Given the description of an element on the screen output the (x, y) to click on. 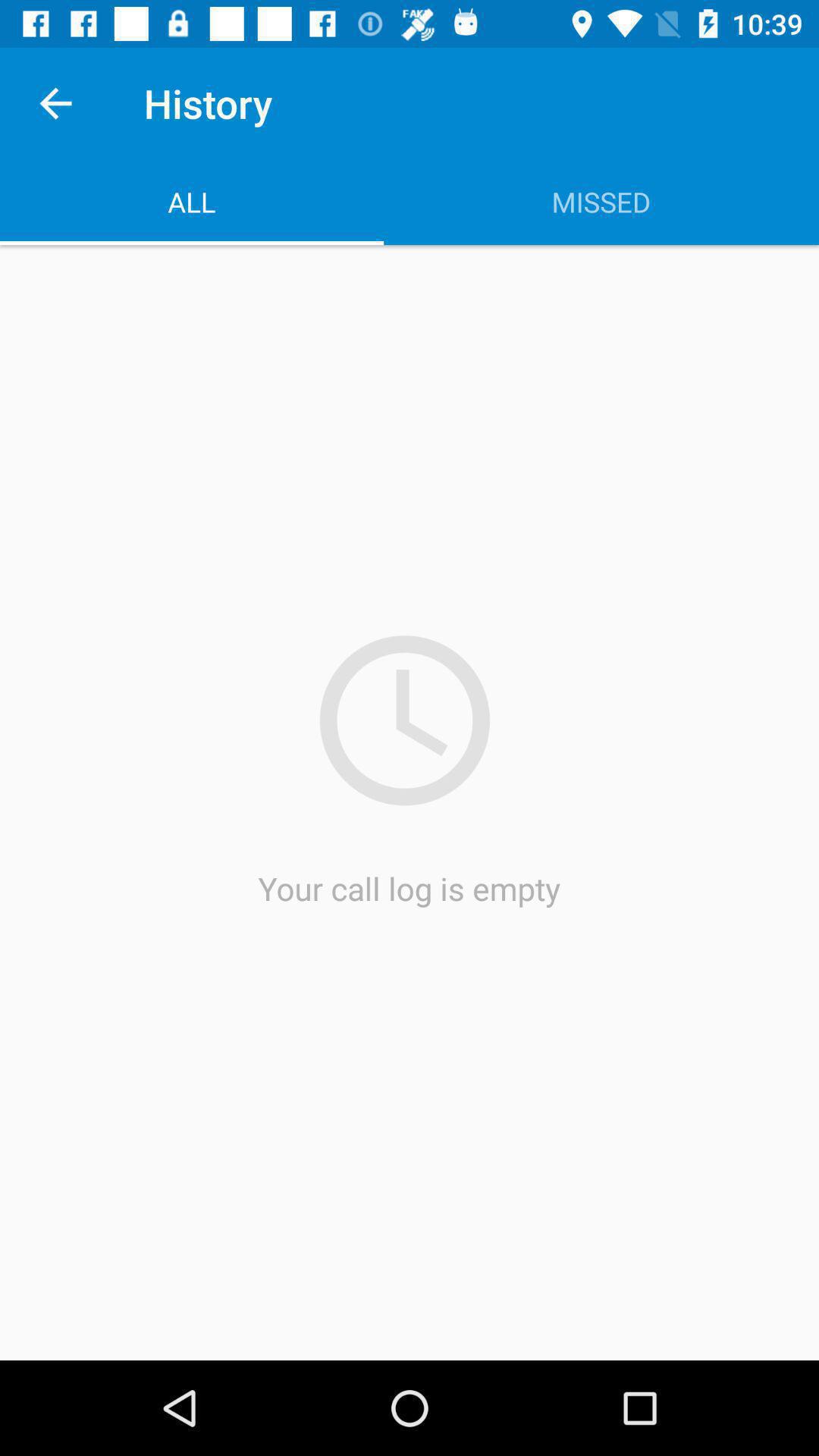
select the all item (191, 202)
